Given the description of an element on the screen output the (x, y) to click on. 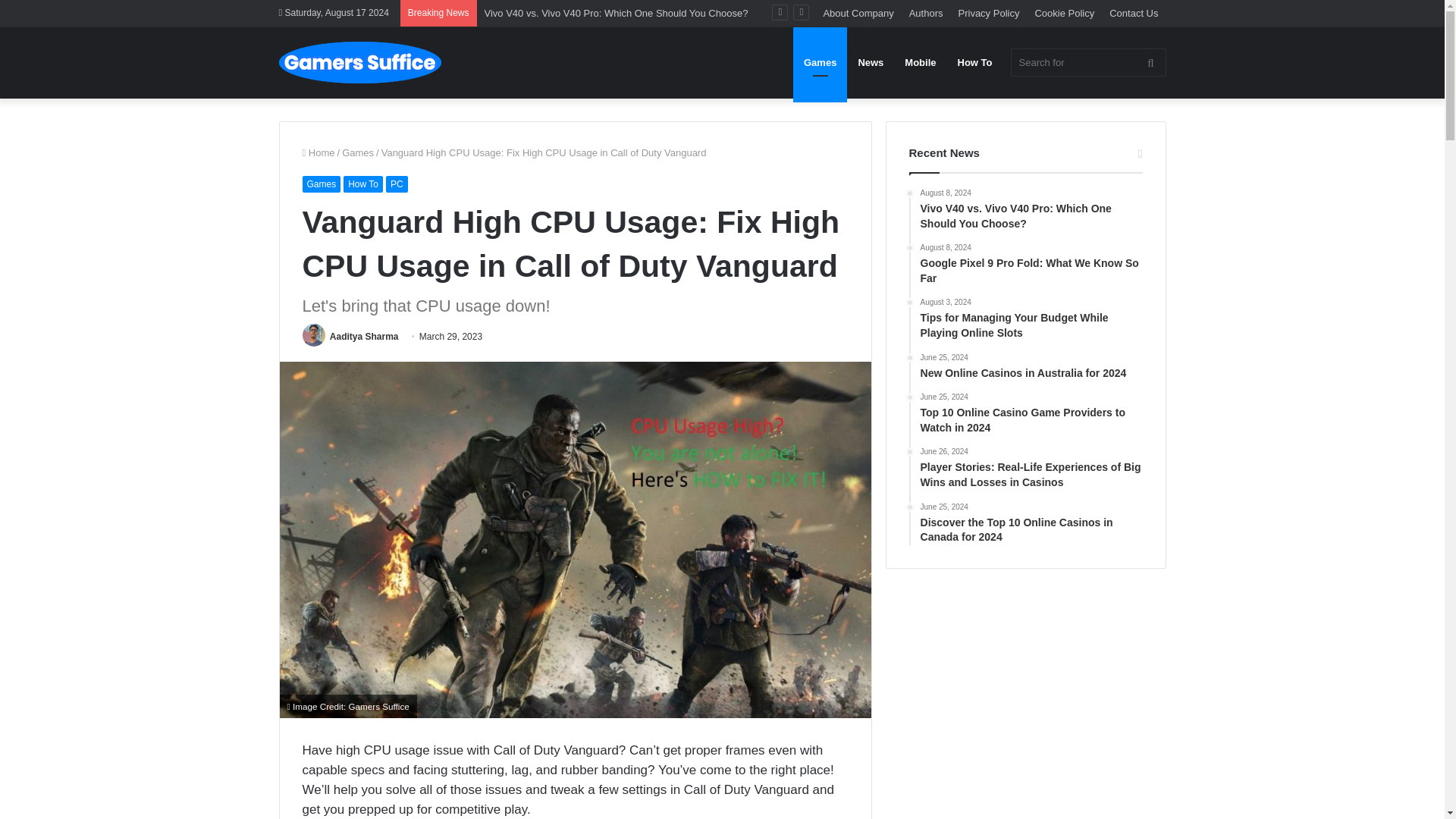
Vivo V40 vs. Vivo V40 Pro: Which One Should You Choose? (616, 12)
Home (317, 152)
Privacy Policy (988, 13)
Games (358, 152)
PC (396, 184)
Games (320, 184)
Aaditya Sharma (364, 336)
Contact Us (1134, 13)
How To (362, 184)
Aaditya Sharma (364, 336)
